Given the description of an element on the screen output the (x, y) to click on. 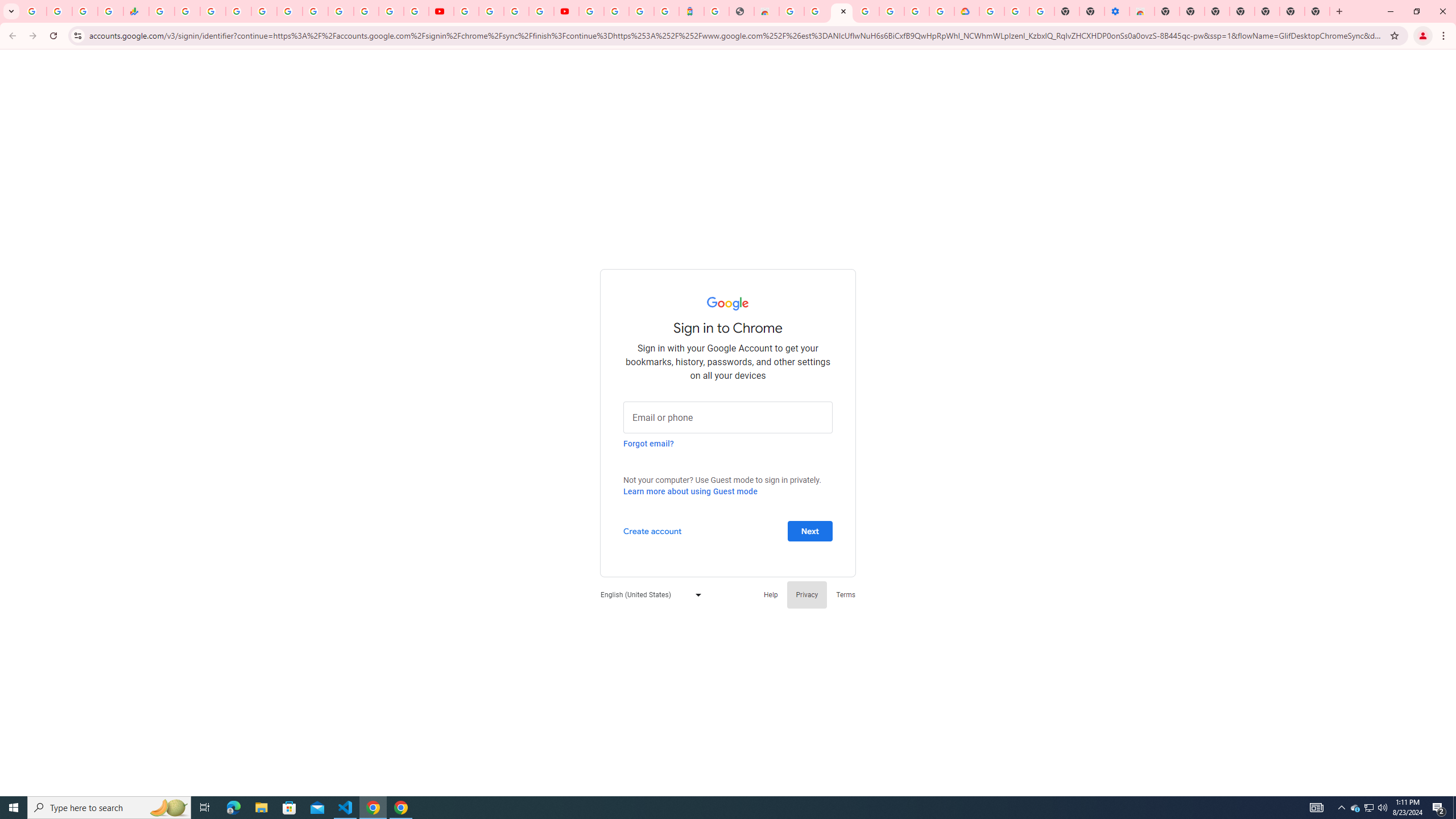
Next (809, 530)
Create your Google Account (516, 11)
YouTube (465, 11)
